Given the description of an element on the screen output the (x, y) to click on. 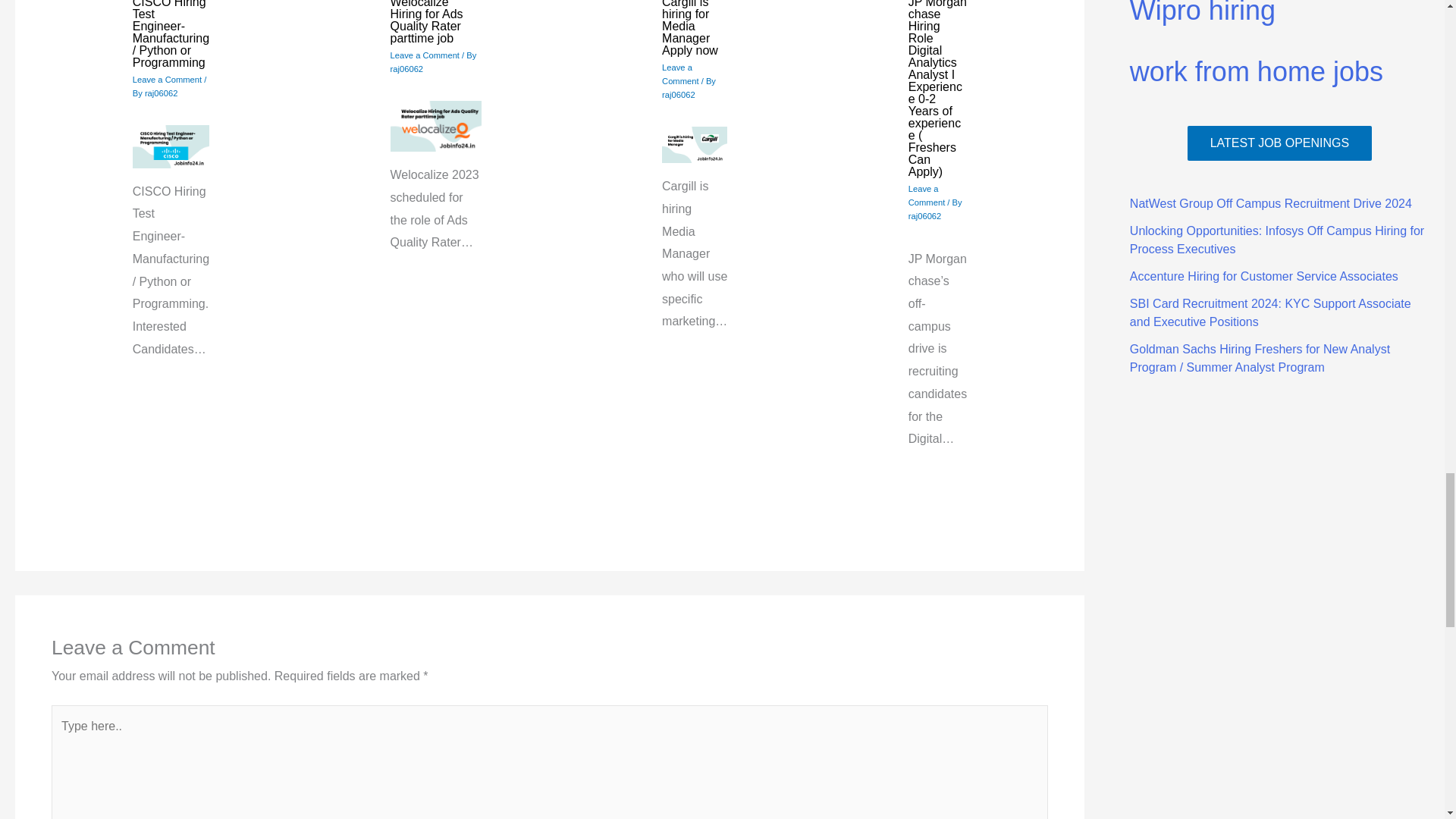
View all posts by raj06062 (160, 92)
Cargill is hiring for Media Manager Apply now 6 (694, 144)
View all posts by raj06062 (925, 215)
Welocalize Hiring for Ads Quality Rater parttime job 5 (435, 126)
View all posts by raj06062 (678, 94)
View all posts by raj06062 (406, 68)
